Given the description of an element on the screen output the (x, y) to click on. 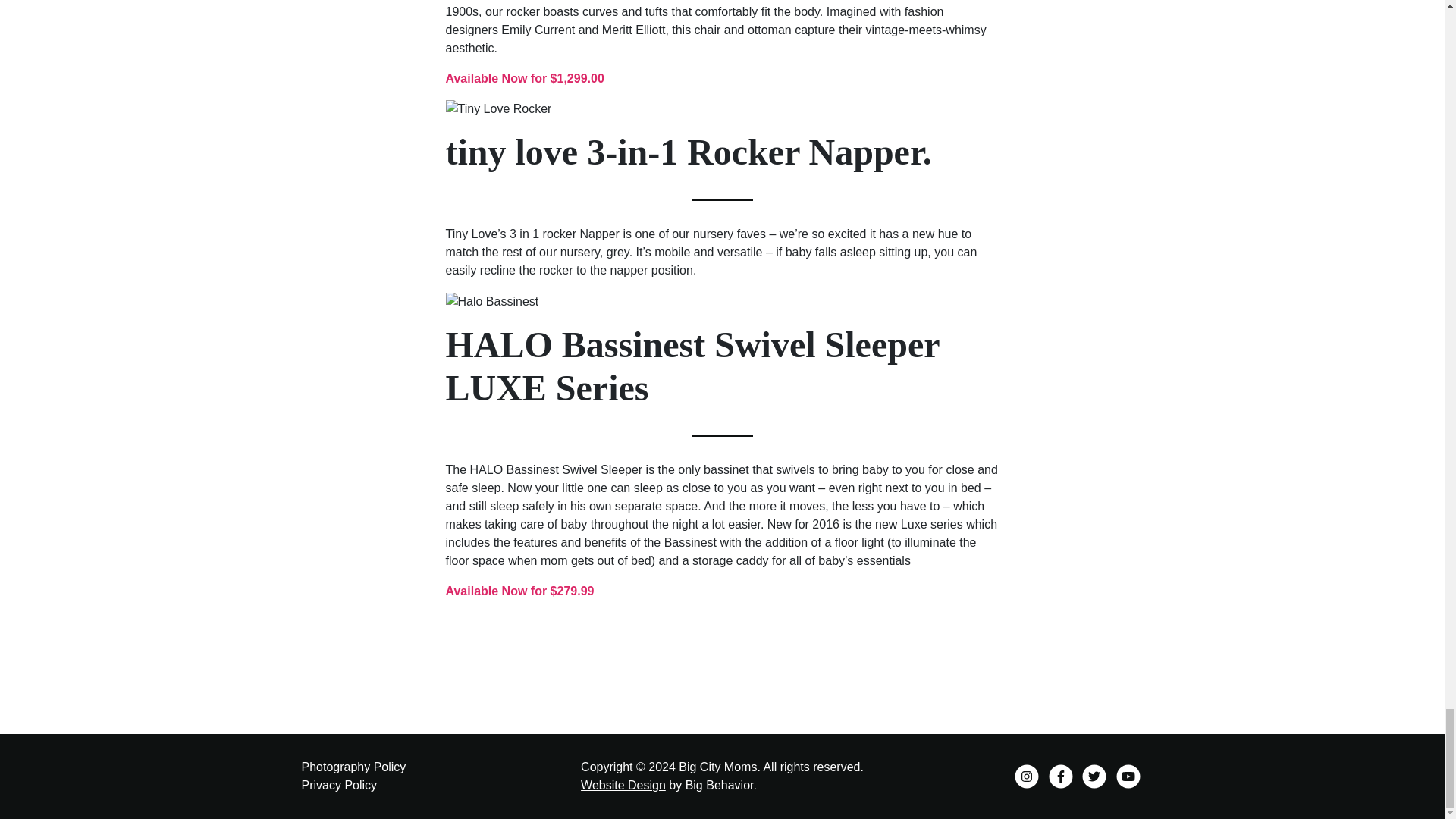
Instagram (1028, 772)
Website Design (622, 784)
Privacy Policy (339, 784)
Twitter (1095, 772)
YouTube (1127, 772)
Facebook (1061, 772)
Photography Policy (353, 766)
